Given the description of an element on the screen output the (x, y) to click on. 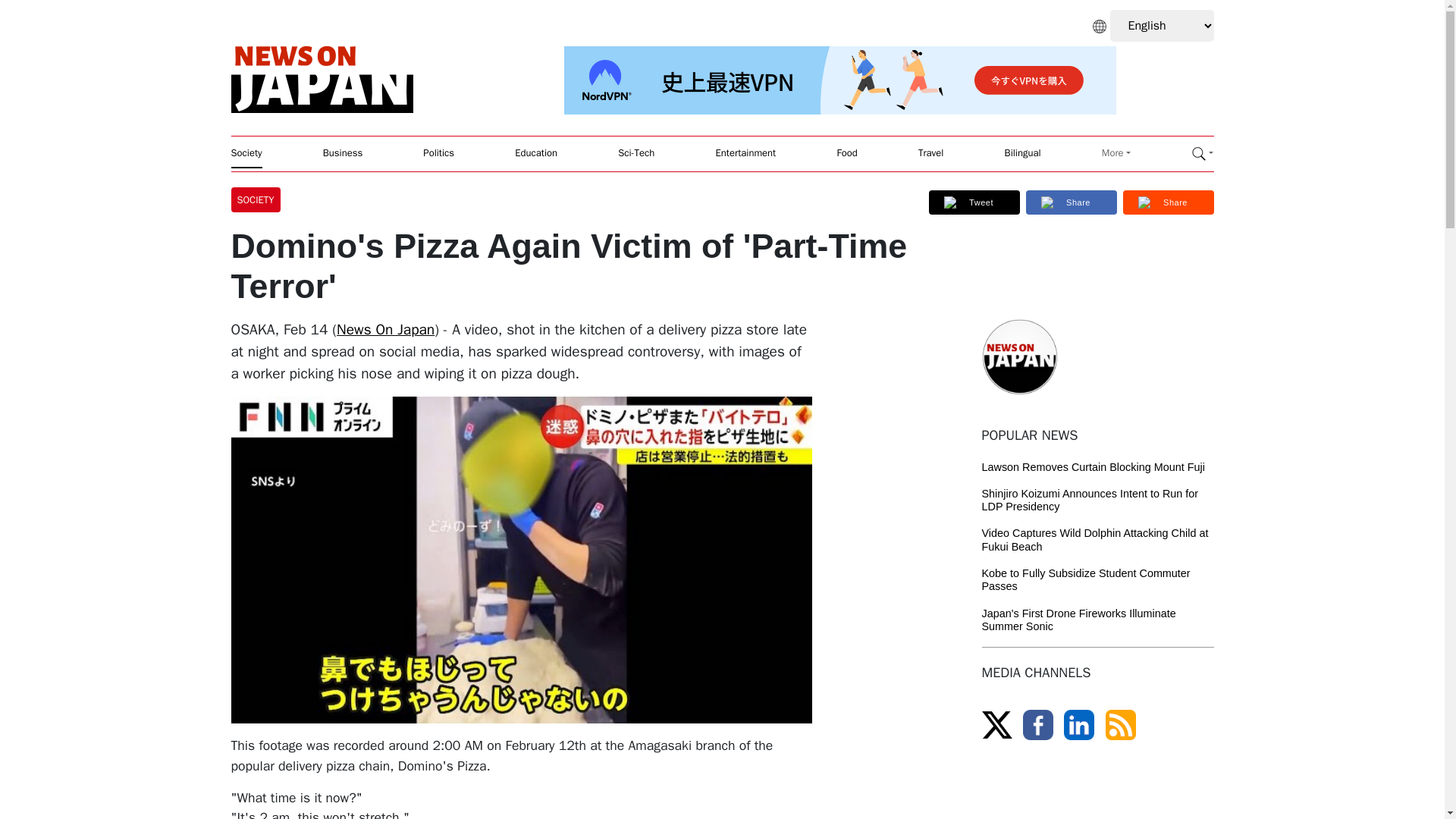
Society (246, 153)
Politics (438, 153)
Education (536, 153)
Sci-Tech (635, 153)
SOCIETY (258, 198)
Entertainment (746, 153)
Bilingual (1022, 153)
More (1116, 153)
Business (342, 153)
